Given the description of an element on the screen output the (x, y) to click on. 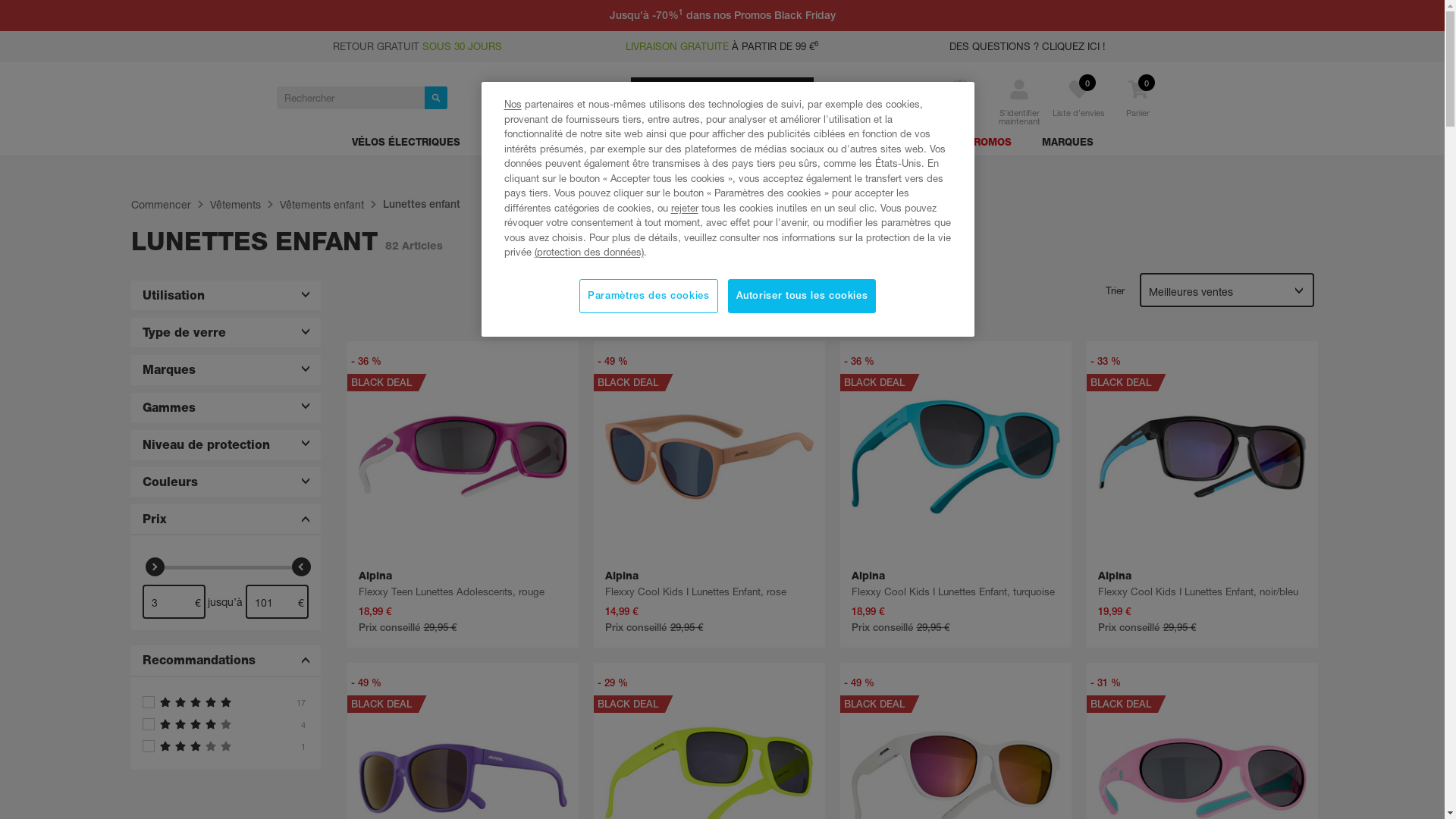
rejeter Element type: text (683, 207)
Lunettes enfant Element type: text (420, 203)
DES QUESTIONS ? CLIQUEZ ICI ! Element type: text (1026, 46)
Commencer Element type: text (160, 204)
Alpina Flexxy Teen Lunettes Adolescents, rouge Element type: text (461, 494)
Nos Element type: text (511, 103)
Filtrer par 4 Element type: hover (225, 724)
ACCESSOIRES Element type: text (723, 144)
PROMOS Element type: text (988, 144)
Alpina Flexxy Teen Lunettes Adolescents, rouge rouge Element type: hover (461, 456)
Alpina Flexxy Cool Kids I Lunettes Enfant, rose Element type: text (709, 494)
Filtrer par 5 Element type: hover (225, 702)
Filtrer par 3 Element type: hover (225, 746)
0
Panier Element type: text (1137, 108)
Alpina Flexxy Cool Kids I Lunettes Enfant, turquoise Element type: text (954, 494)
Alpina Flexxy Cool Kids I Lunettes Enfant, rose rose Element type: hover (709, 456)
Autoriser tous les cookies Element type: text (802, 296)
MARQUES Element type: text (1067, 144)
Alpina Flexxy Cool Kids I Lunettes Enfant, noir/bleu Element type: text (1202, 494)
